Given the description of an element on the screen output the (x, y) to click on. 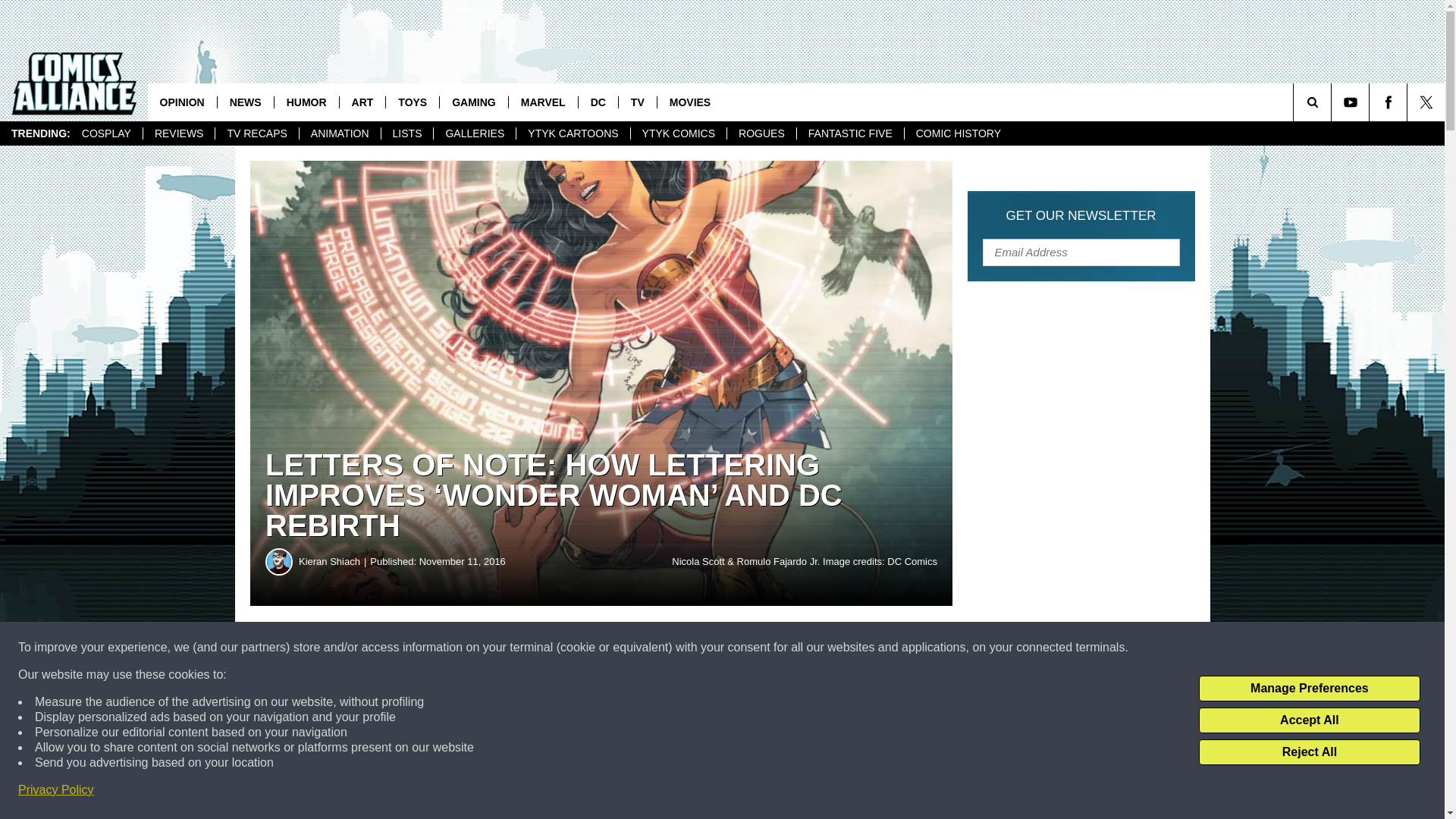
Email Address (1080, 251)
SHARE (460, 647)
Privacy Policy (55, 789)
SEARCH (1333, 102)
Visit us on Youtube (1350, 102)
SHARE (460, 647)
MOVIES (689, 102)
TWEET (741, 647)
Manage Preferences (1309, 688)
YTYK CARTOONS (571, 133)
ART (362, 102)
LISTS (406, 133)
NEWS (244, 102)
FANTASTIC FIVE (850, 133)
YTYK COMICS (678, 133)
